Given the description of an element on the screen output the (x, y) to click on. 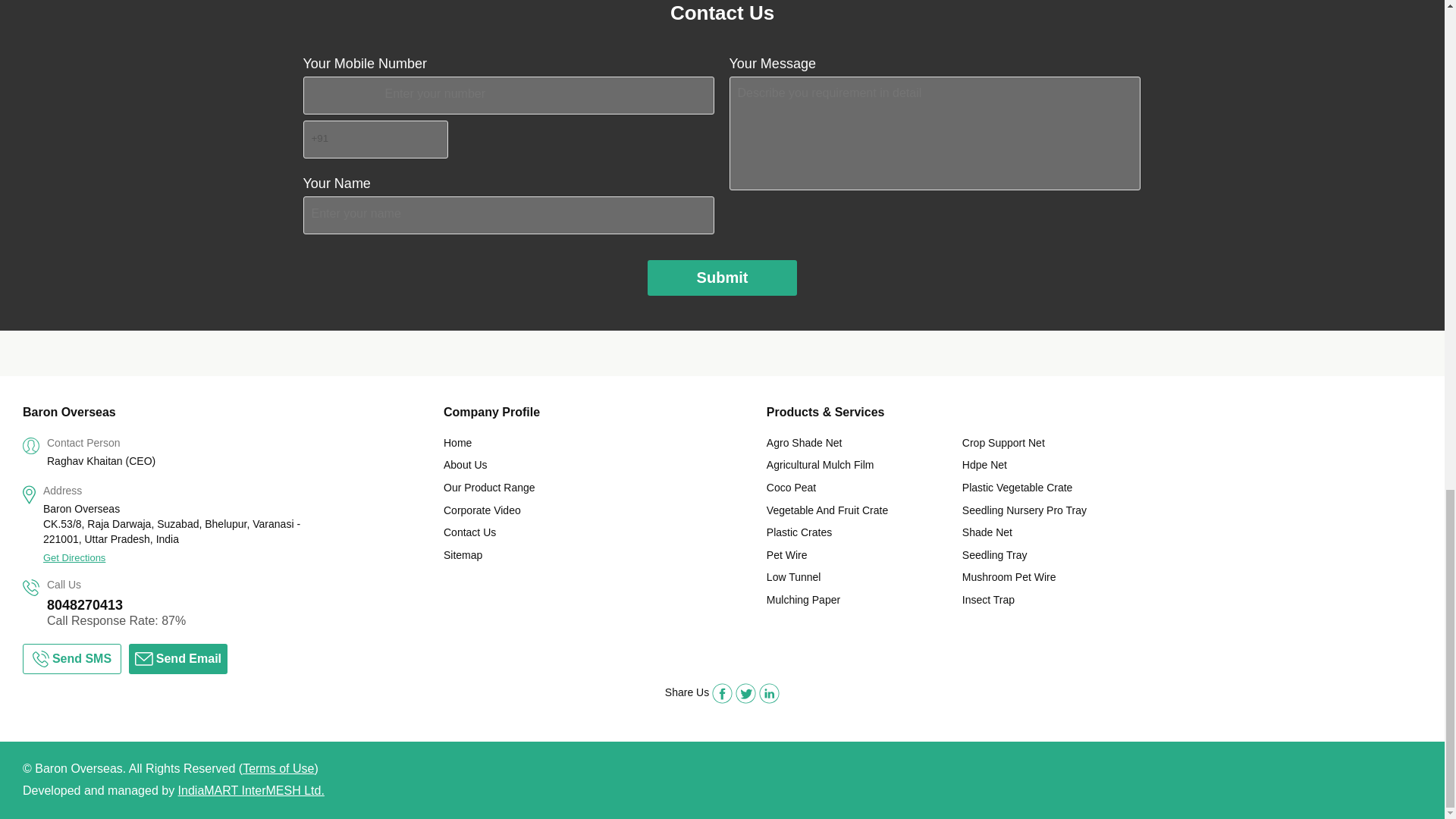
Submit (722, 277)
